Given the description of an element on the screen output the (x, y) to click on. 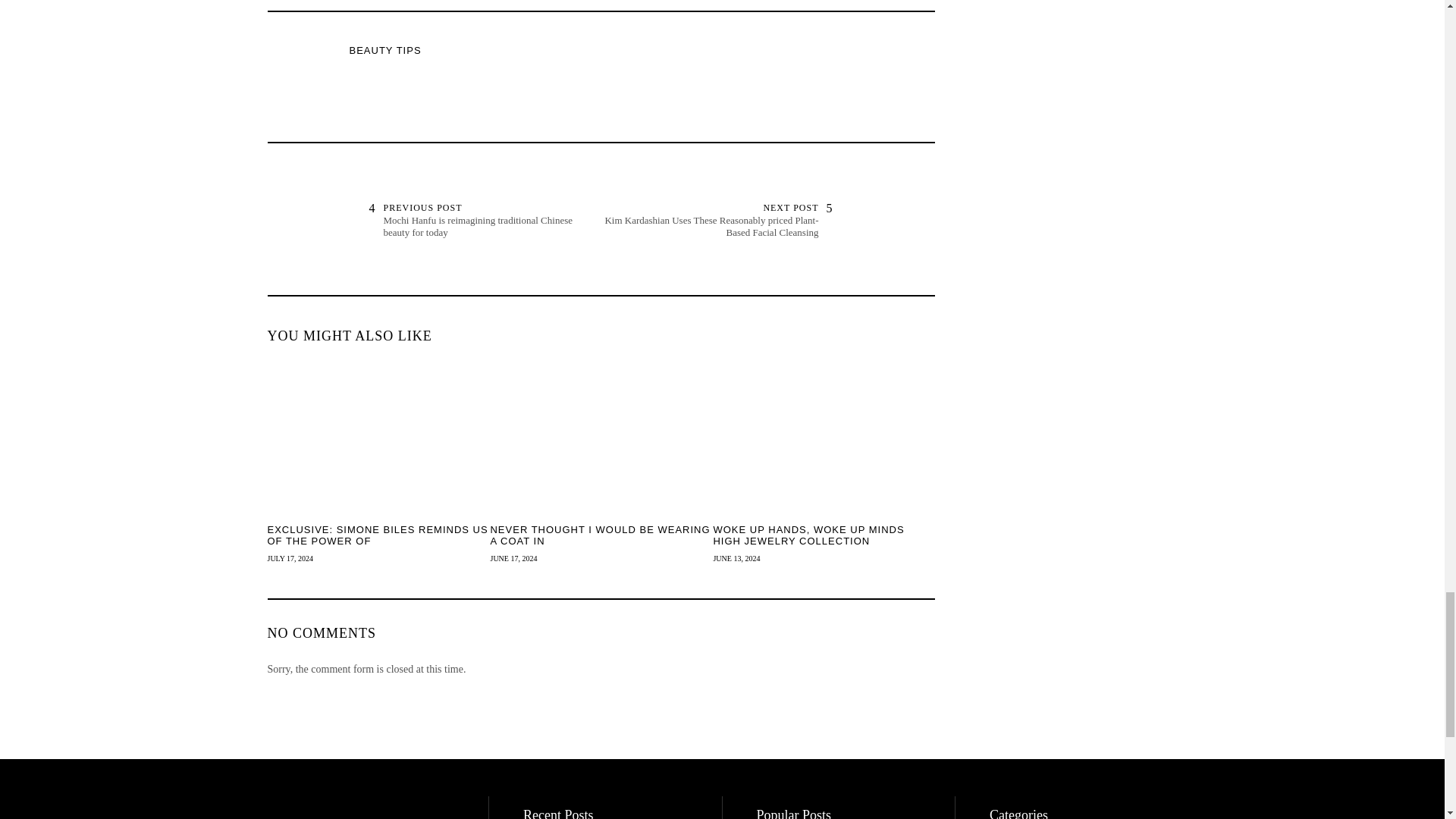
Never Thought I Would Be Wearing a Coat in (600, 535)
Woke up Hands, Woke up Minds High Jewelry Collection (823, 535)
EXCLUSIVE: Simone Biles Reminds Us Of The Power Of (376, 535)
